Given the description of an element on the screen output the (x, y) to click on. 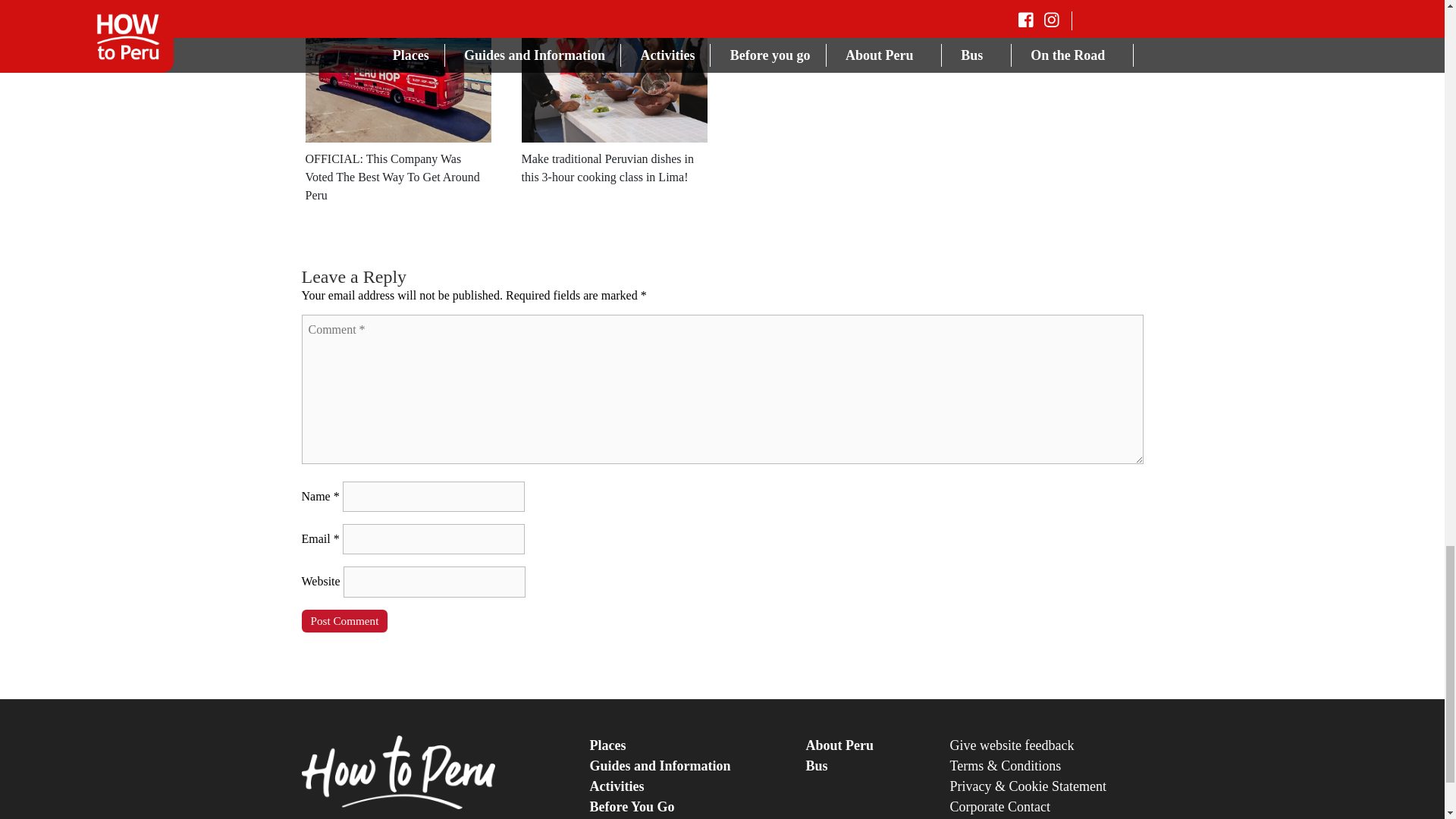
Post Comment (344, 620)
